Given the description of an element on the screen output the (x, y) to click on. 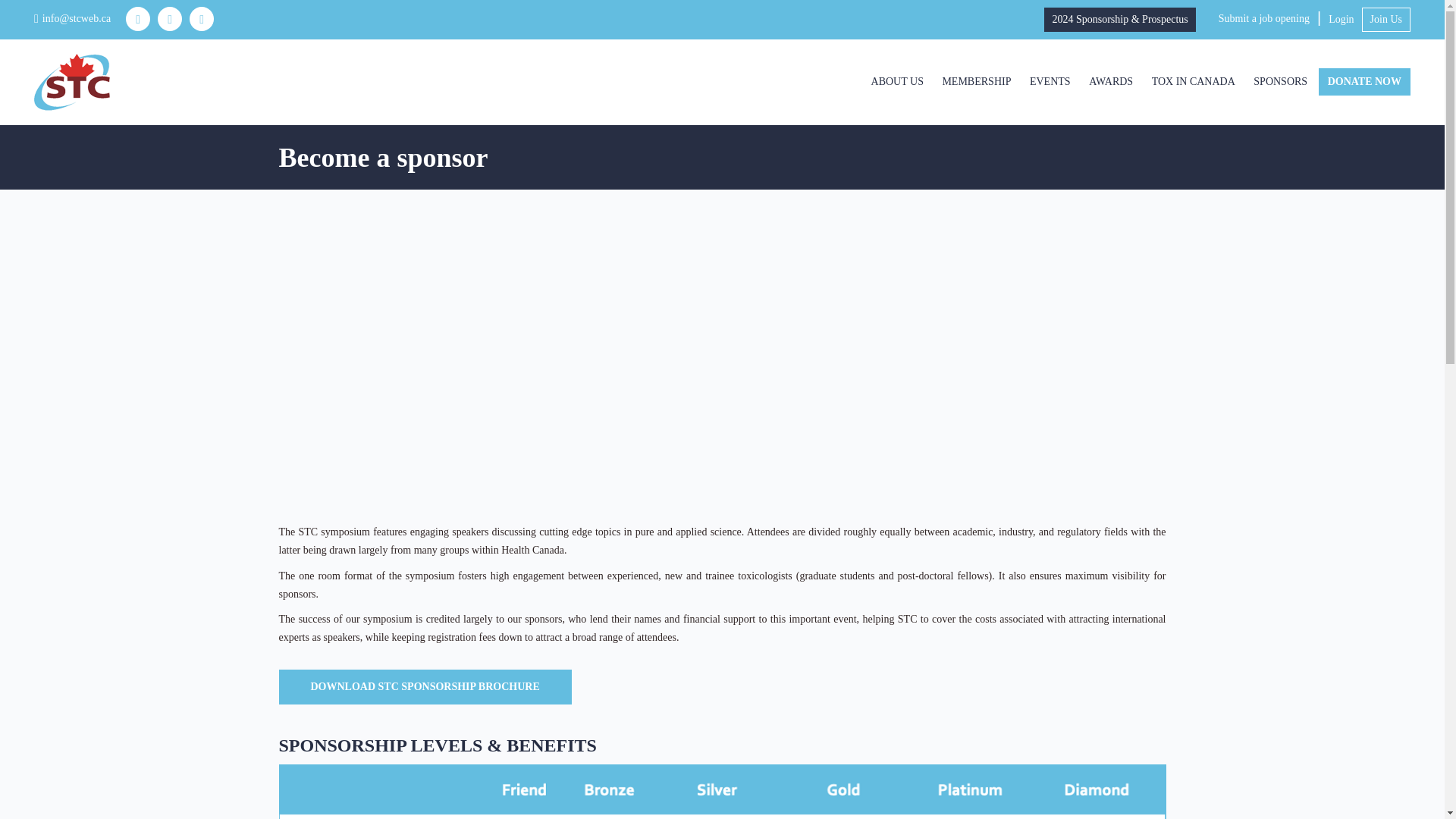
Join Us (1385, 19)
Submit a job opening (1263, 18)
DONATE NOW (1364, 81)
sponsor-table-2022 (722, 791)
The Society of Toxicology of Canada (71, 81)
DOWNLOAD STC SPONSORSHIP BROCHURE (425, 686)
MEMBERSHIP (975, 81)
TOX IN CANADA (1193, 81)
